Given the description of an element on the screen output the (x, y) to click on. 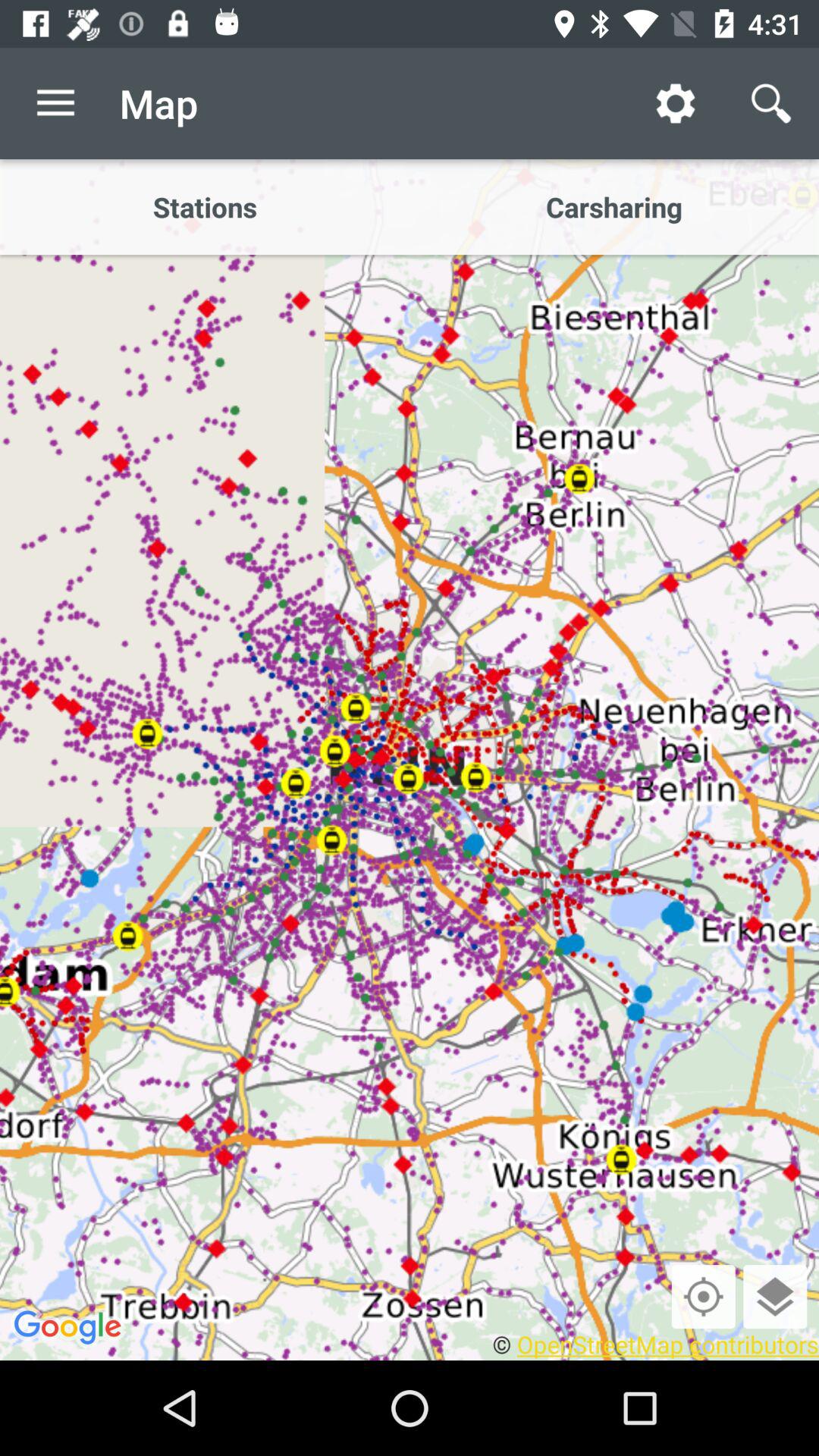
turn on icon next to map icon (55, 103)
